Given the description of an element on the screen output the (x, y) to click on. 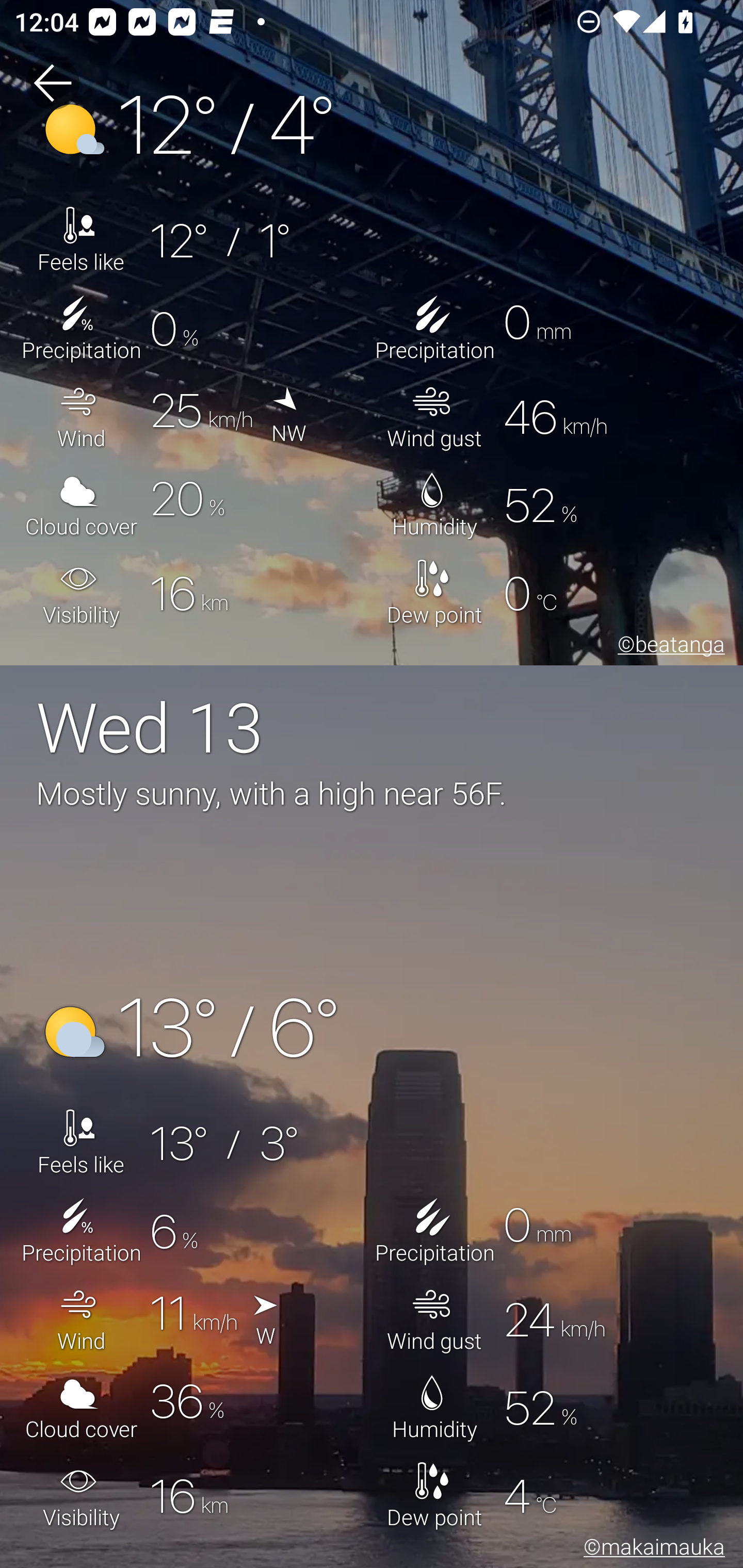
©beatanga (667, 646)
©makaimauka (650, 1549)
